Given the description of an element on the screen output the (x, y) to click on. 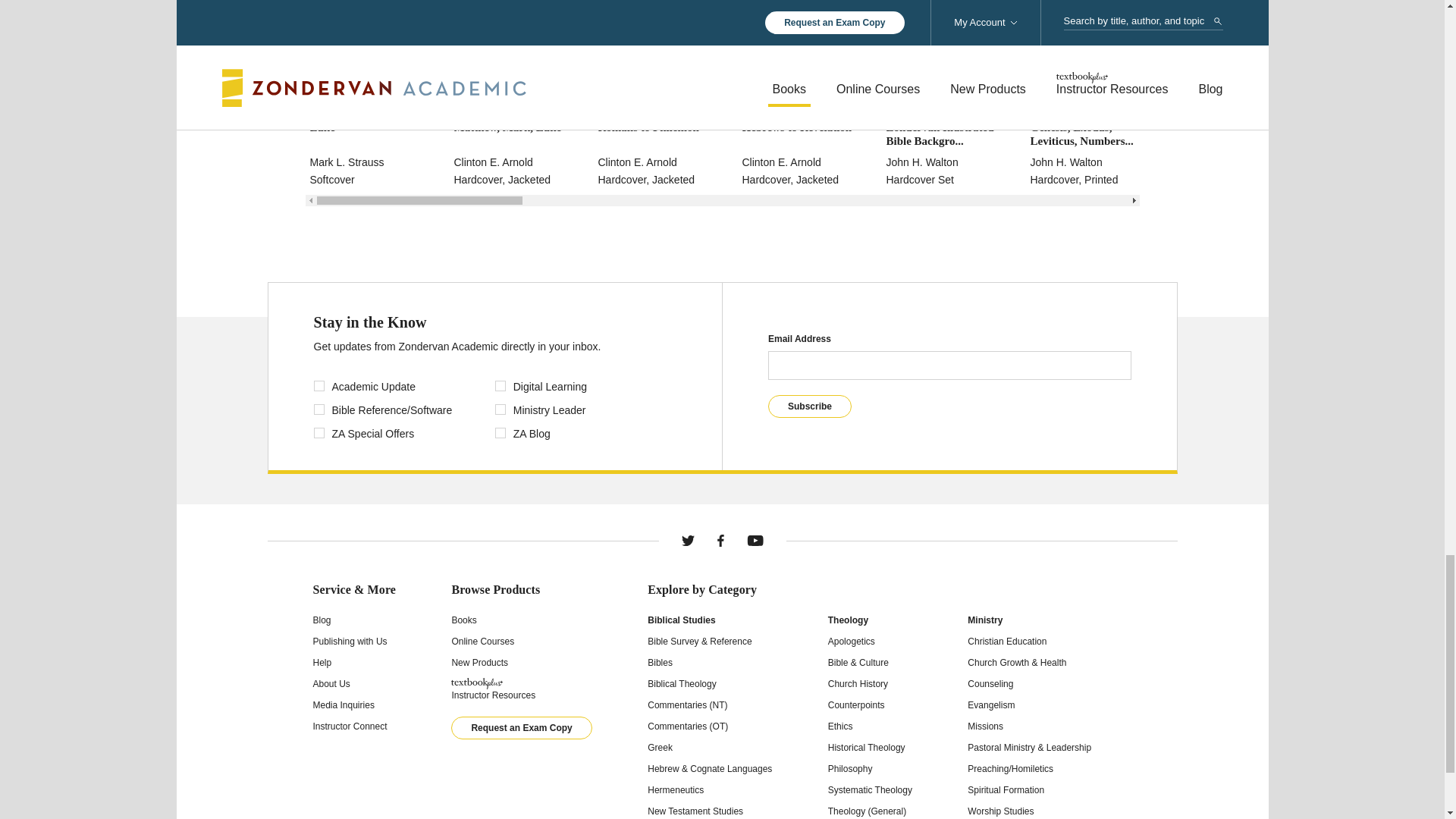
Subscribe (809, 405)
